Given the description of an element on the screen output the (x, y) to click on. 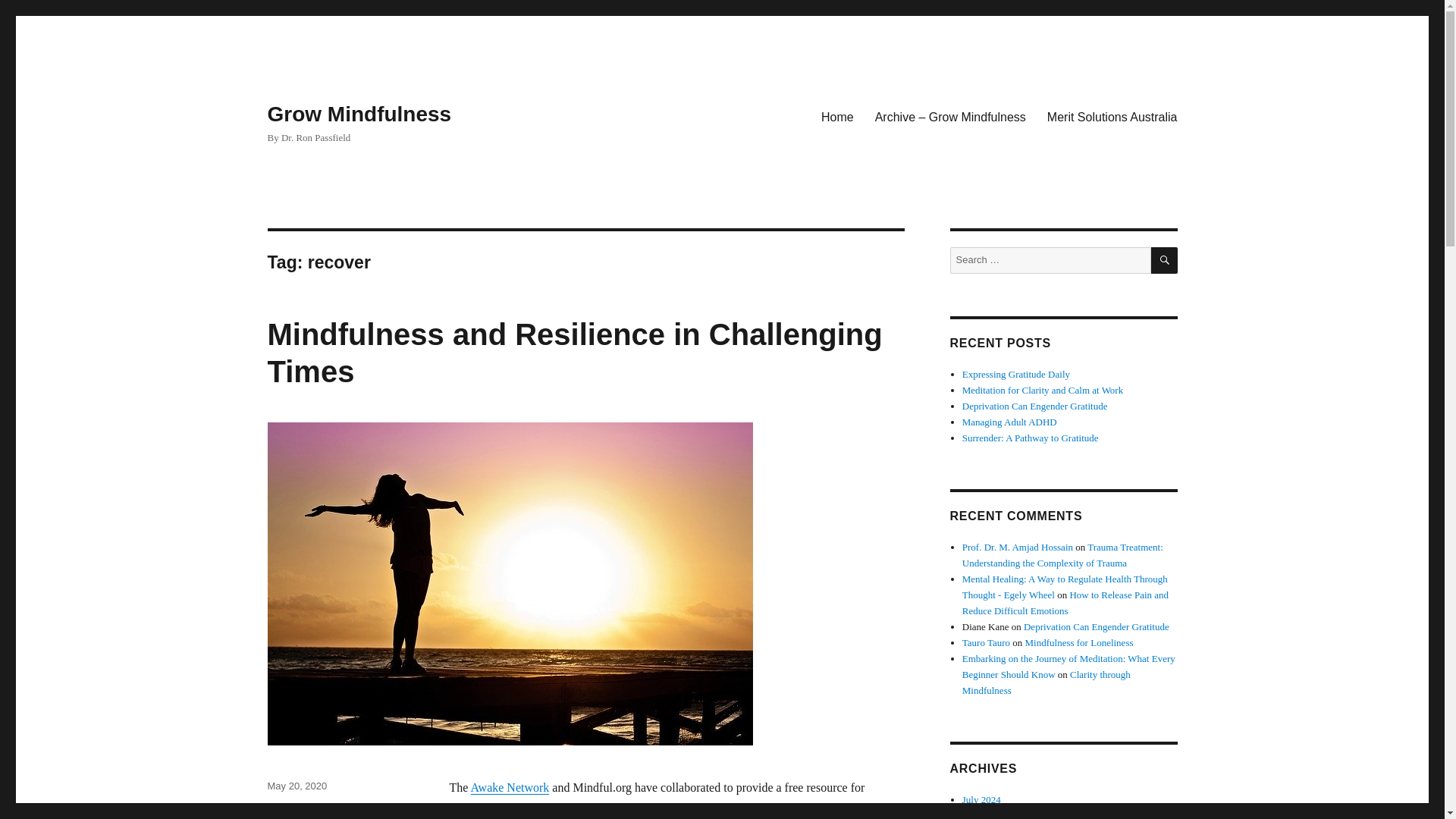
Home (837, 116)
Mental Health (296, 807)
Merit Solutions Australia (1112, 116)
Grow Mindfulness (358, 114)
May 20, 2020 (296, 785)
Mindfulness and Resilience in Challenging Times (574, 352)
Awake Network (509, 787)
